Given the description of an element on the screen output the (x, y) to click on. 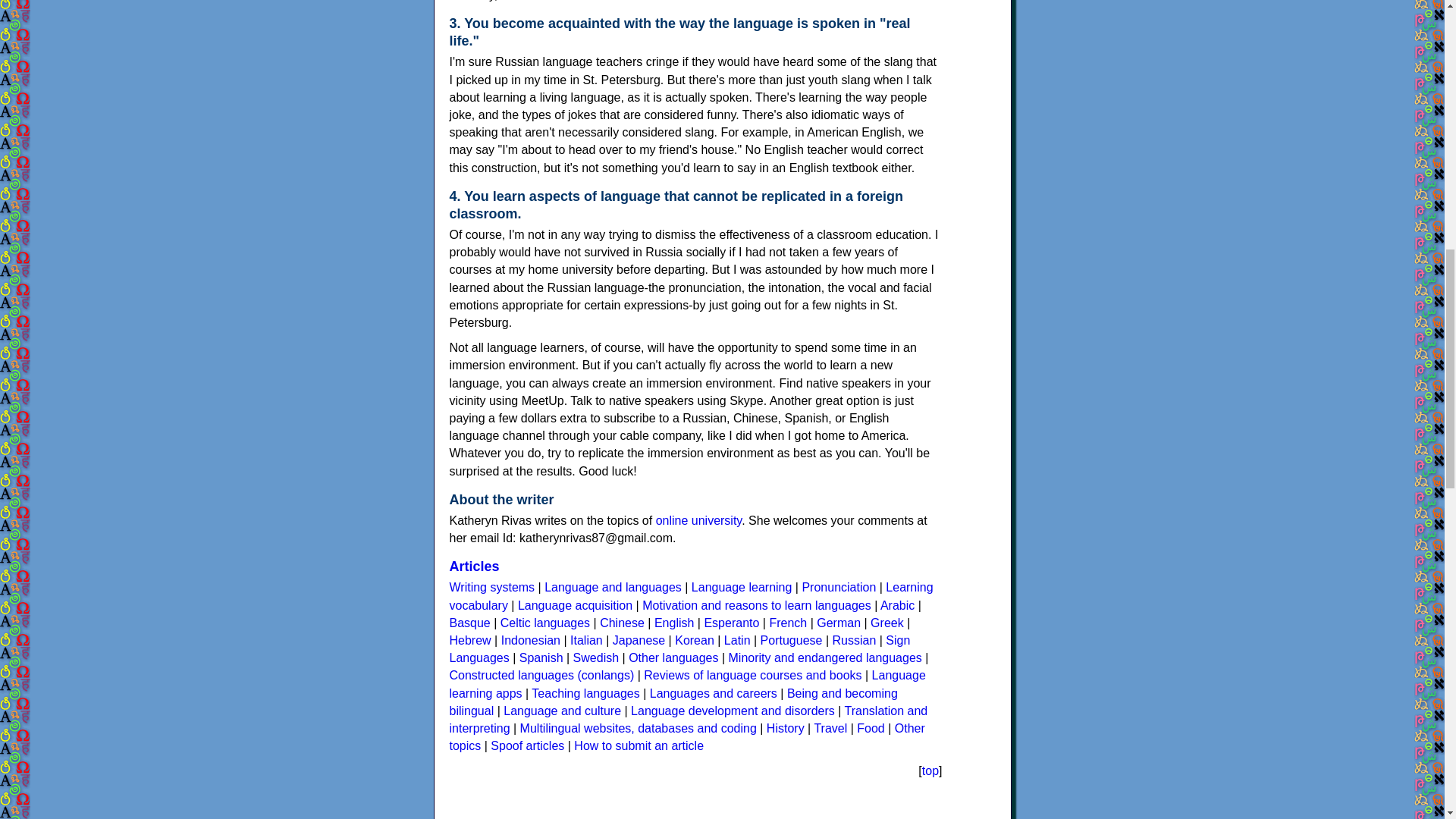
Hebrew (469, 640)
Chinese (622, 622)
Italian (586, 640)
Korean (694, 640)
Latin (737, 640)
Indonesian (530, 640)
Language and languages (612, 586)
Russian (854, 640)
Portuguese (791, 640)
Learning vocabulary (690, 595)
